Given the description of an element on the screen output the (x, y) to click on. 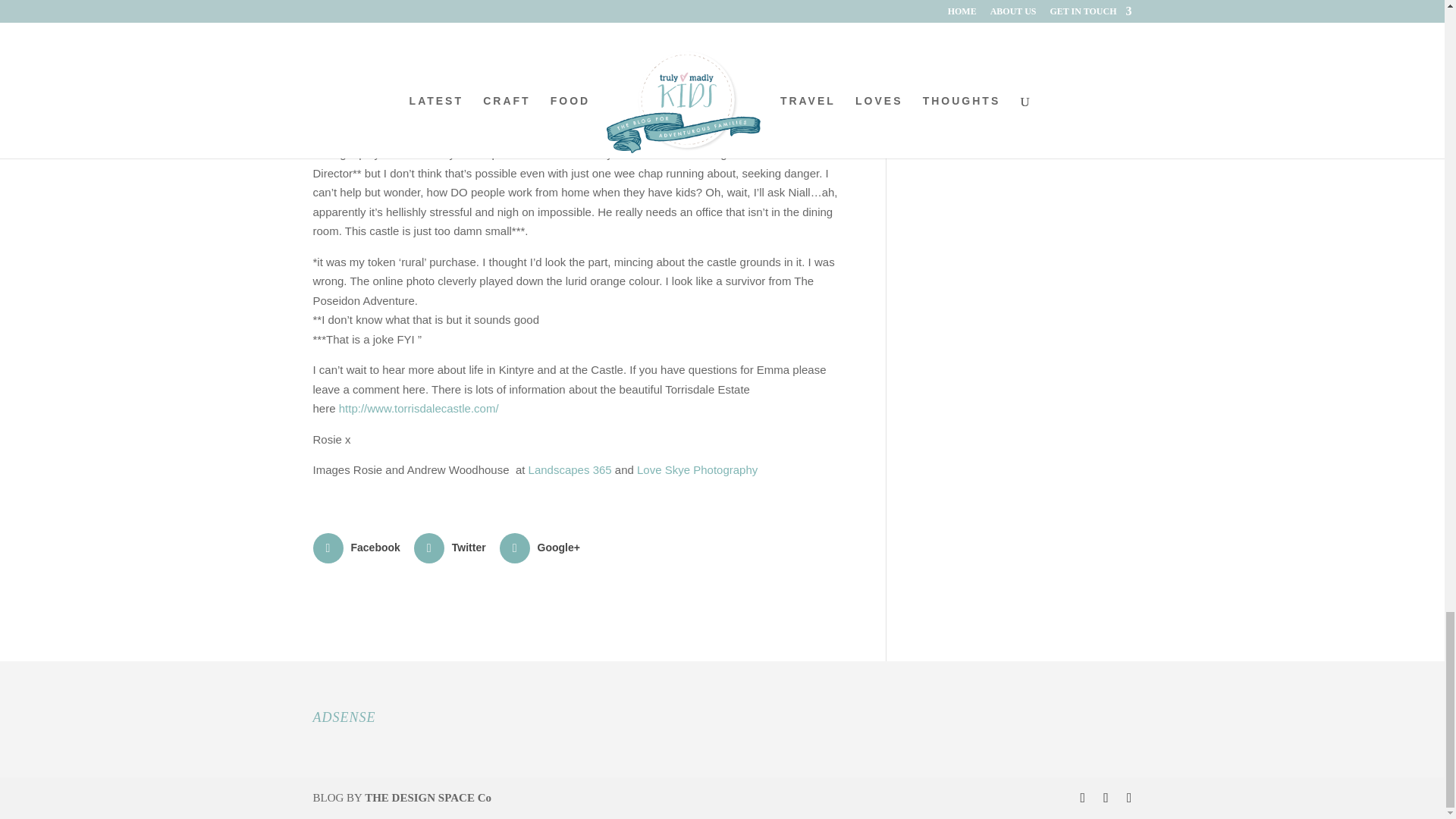
Landscapes 365 (569, 469)
Love Skye Photography (697, 469)
Torrisdale Castle (419, 408)
Love Skye Photography (697, 469)
Landscapes 365 (569, 469)
Facebook (358, 548)
